Given the description of an element on the screen output the (x, y) to click on. 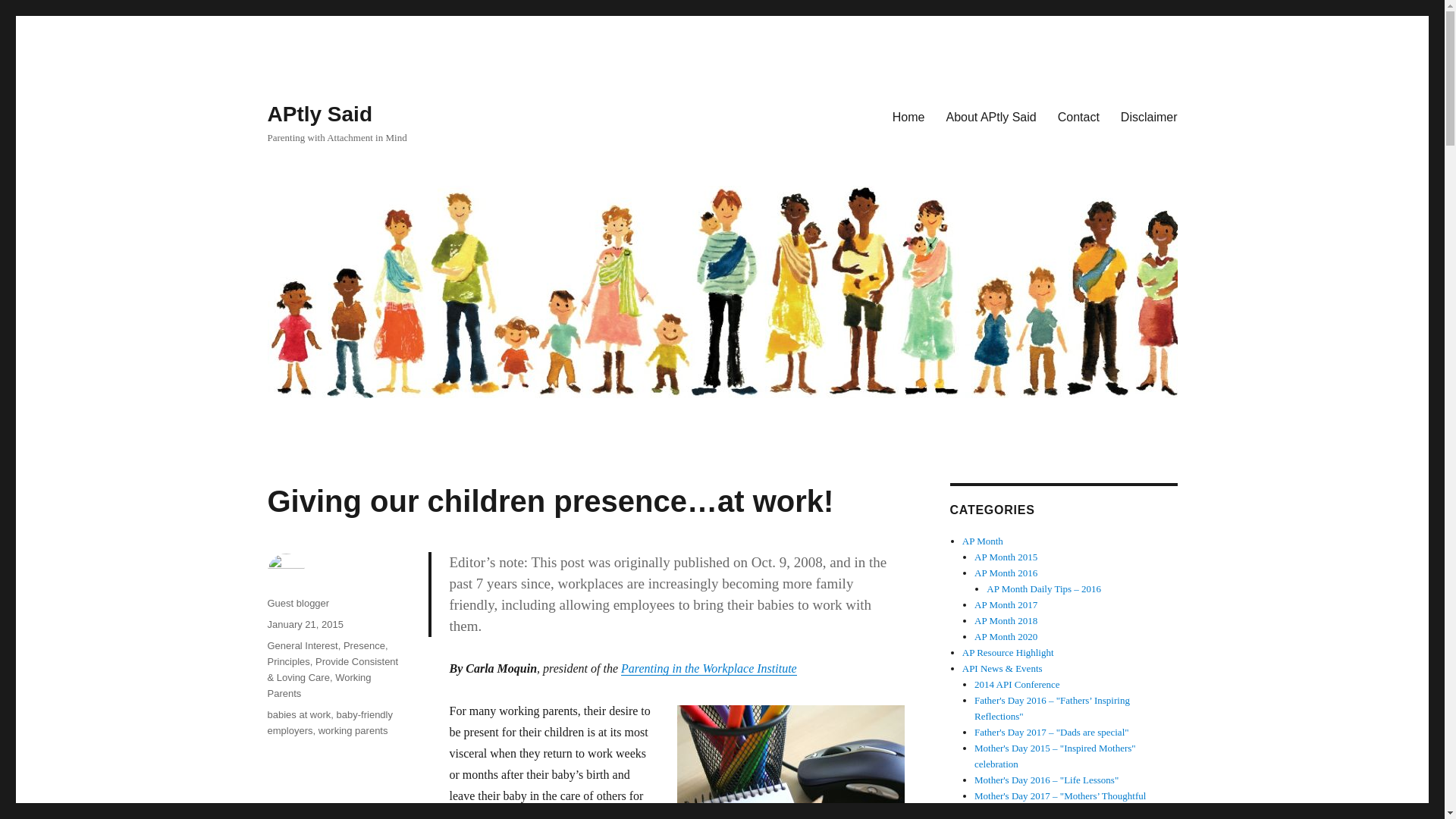
About APtly Said (991, 116)
working parents (353, 730)
AP Month 2016 (1005, 572)
AP Month (982, 541)
Parenting in the Workplace Institute (708, 667)
Presence (364, 645)
APtly Said (318, 114)
Principles (287, 661)
AP Month 2015 (1005, 556)
Home (909, 116)
